Given the description of an element on the screen output the (x, y) to click on. 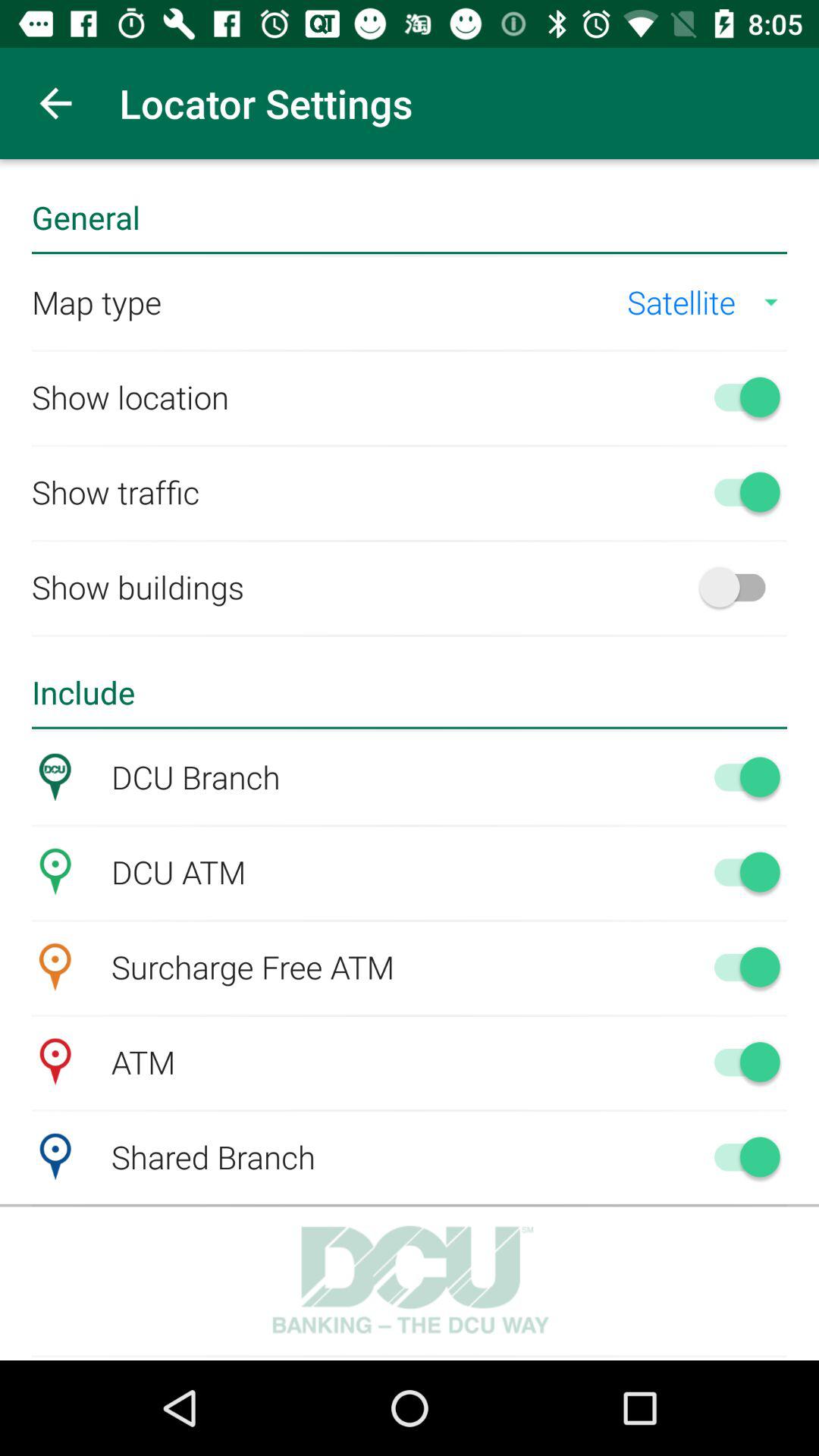
toggle selection on/off (739, 586)
